Given the description of an element on the screen output the (x, y) to click on. 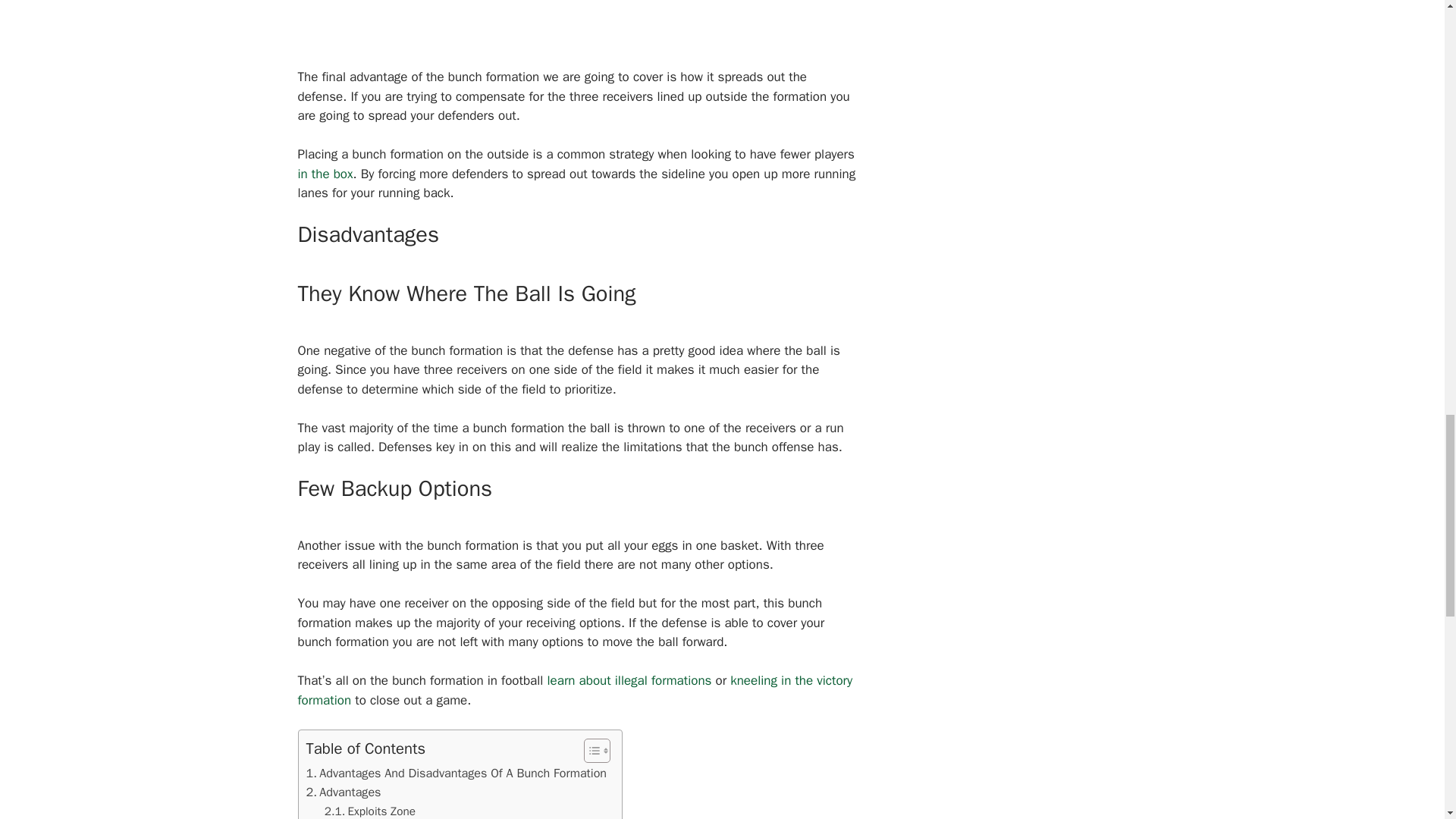
Exploits Zone (369, 810)
Exploits Zone (369, 810)
learn about illegal formations (629, 680)
Advantages (343, 792)
in the box (324, 173)
kneeling in the victory formation (574, 690)
Advantages And Disadvantages Of A Bunch Formation (456, 772)
Advantages (343, 792)
Advantages And Disadvantages Of A Bunch Formation (456, 772)
